Given the description of an element on the screen output the (x, y) to click on. 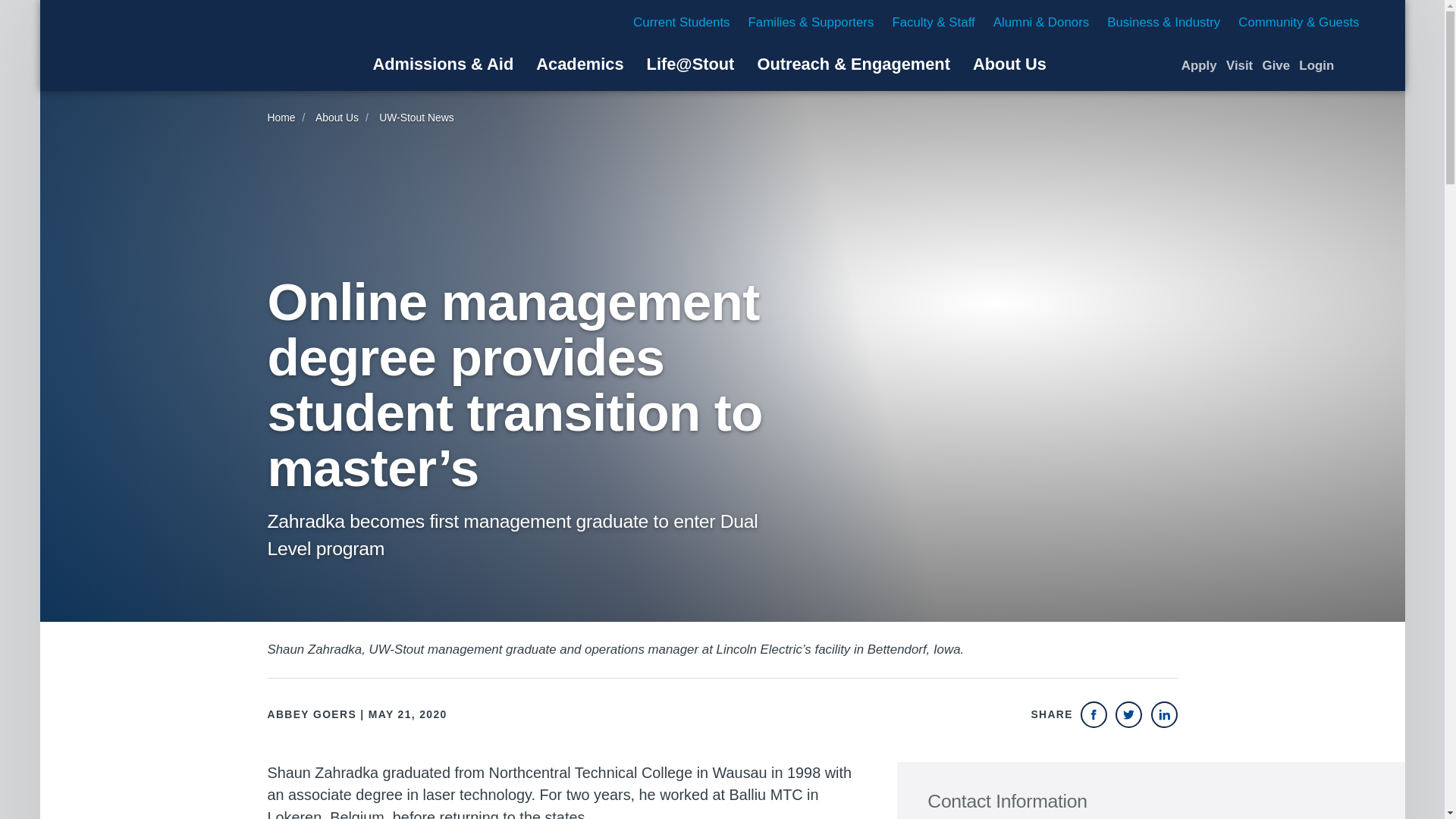
Common Logins for UW-Stout (1315, 65)
University of Wisconsin-Stout (167, 45)
Academics (579, 63)
Current Students (681, 22)
University of Wisconsin-Stout (167, 45)
About Us (1009, 63)
